Given the description of an element on the screen output the (x, y) to click on. 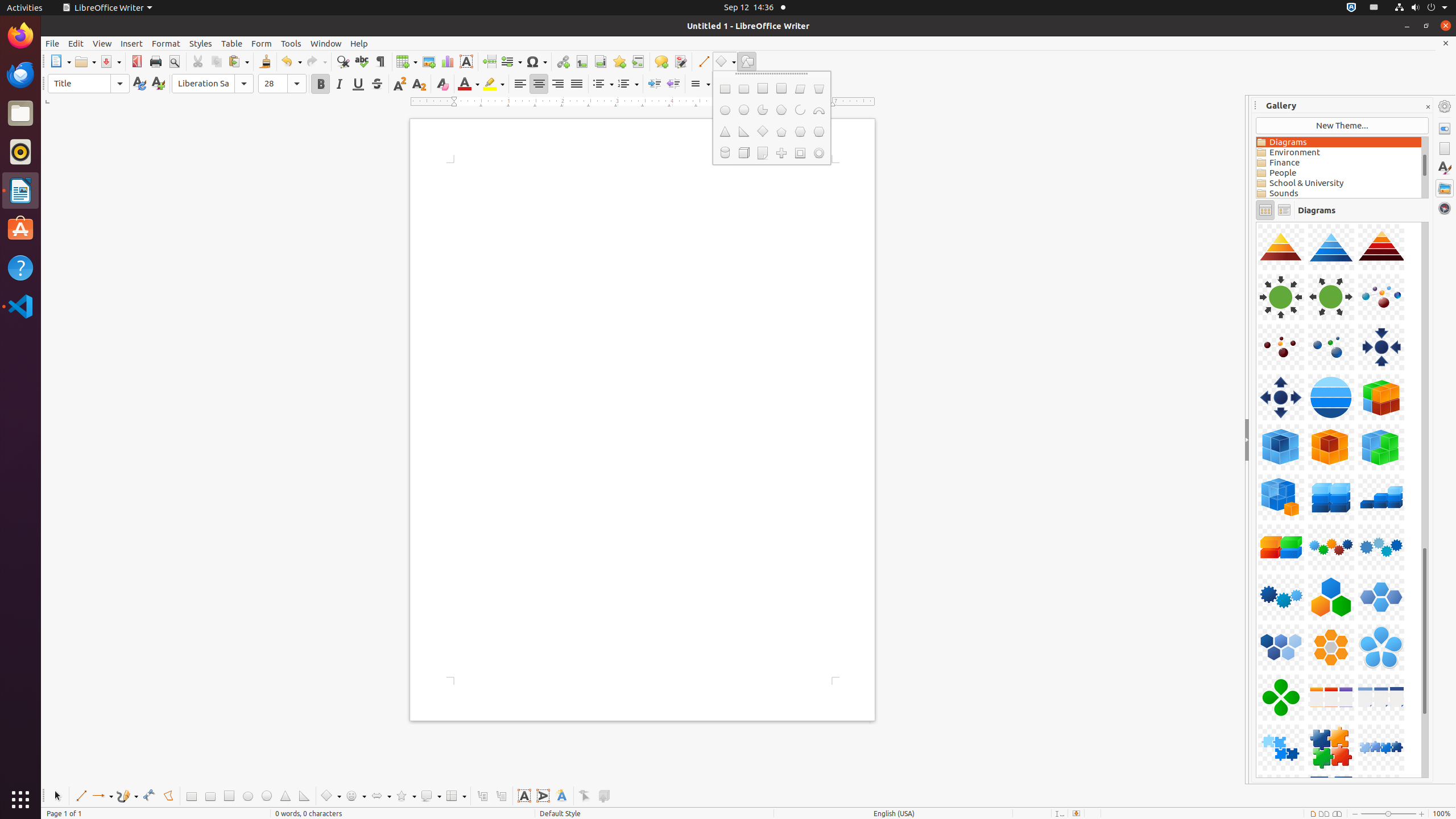
Subscript Element type: toggle-button (418, 83)
Trapezoid Element type: toggle-button (818, 88)
Right Element type: toggle-button (557, 83)
Rhythmbox Element type: push-button (20, 151)
Rectangle, Rounded Element type: toggle-button (743, 88)
